Given the description of an element on the screen output the (x, y) to click on. 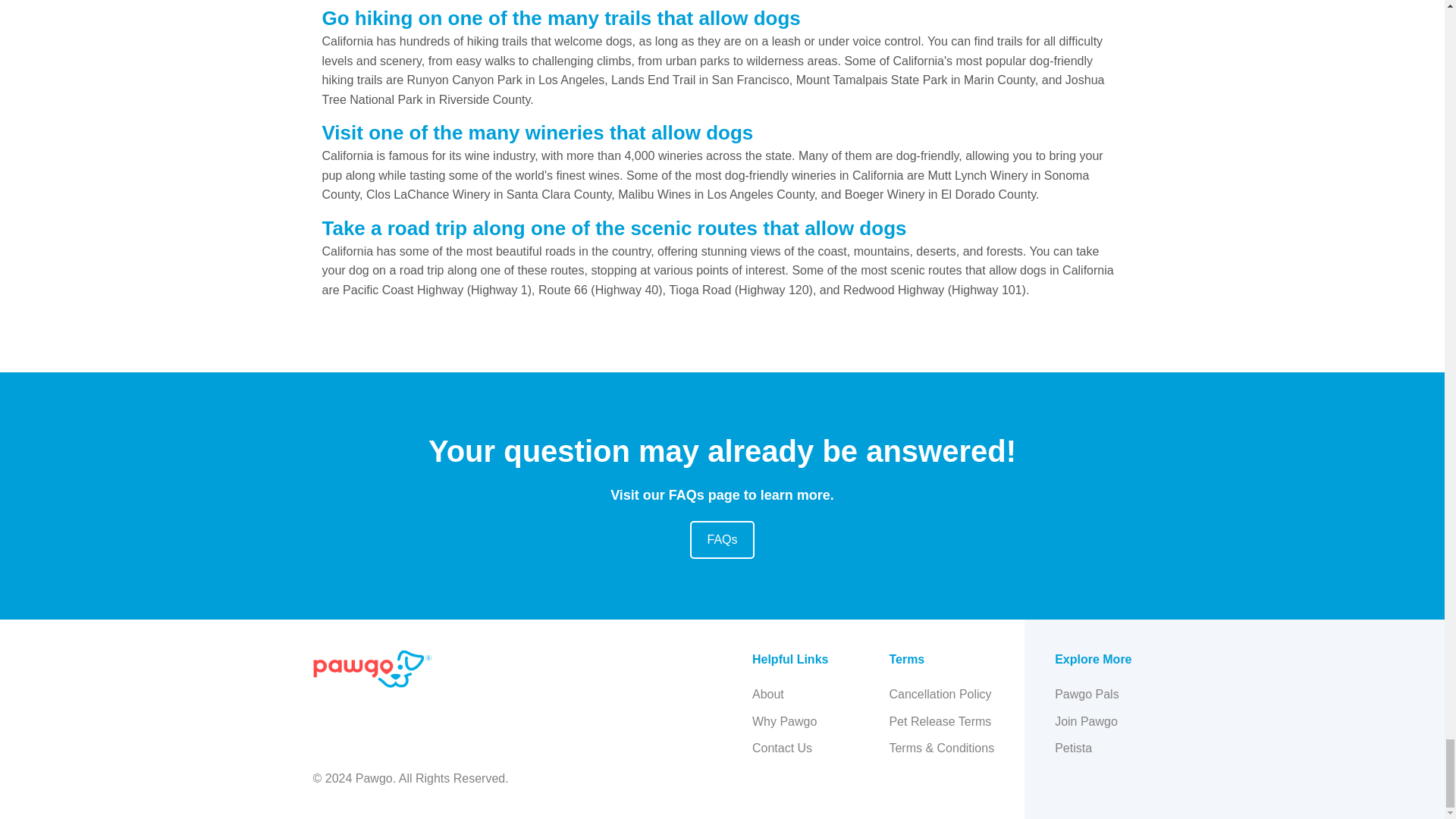
Cancellation Policy (941, 694)
Contact Us (784, 748)
Why Pawgo (784, 721)
FAQs (722, 539)
Pet Release Terms (941, 721)
About (784, 694)
